Given the description of an element on the screen output the (x, y) to click on. 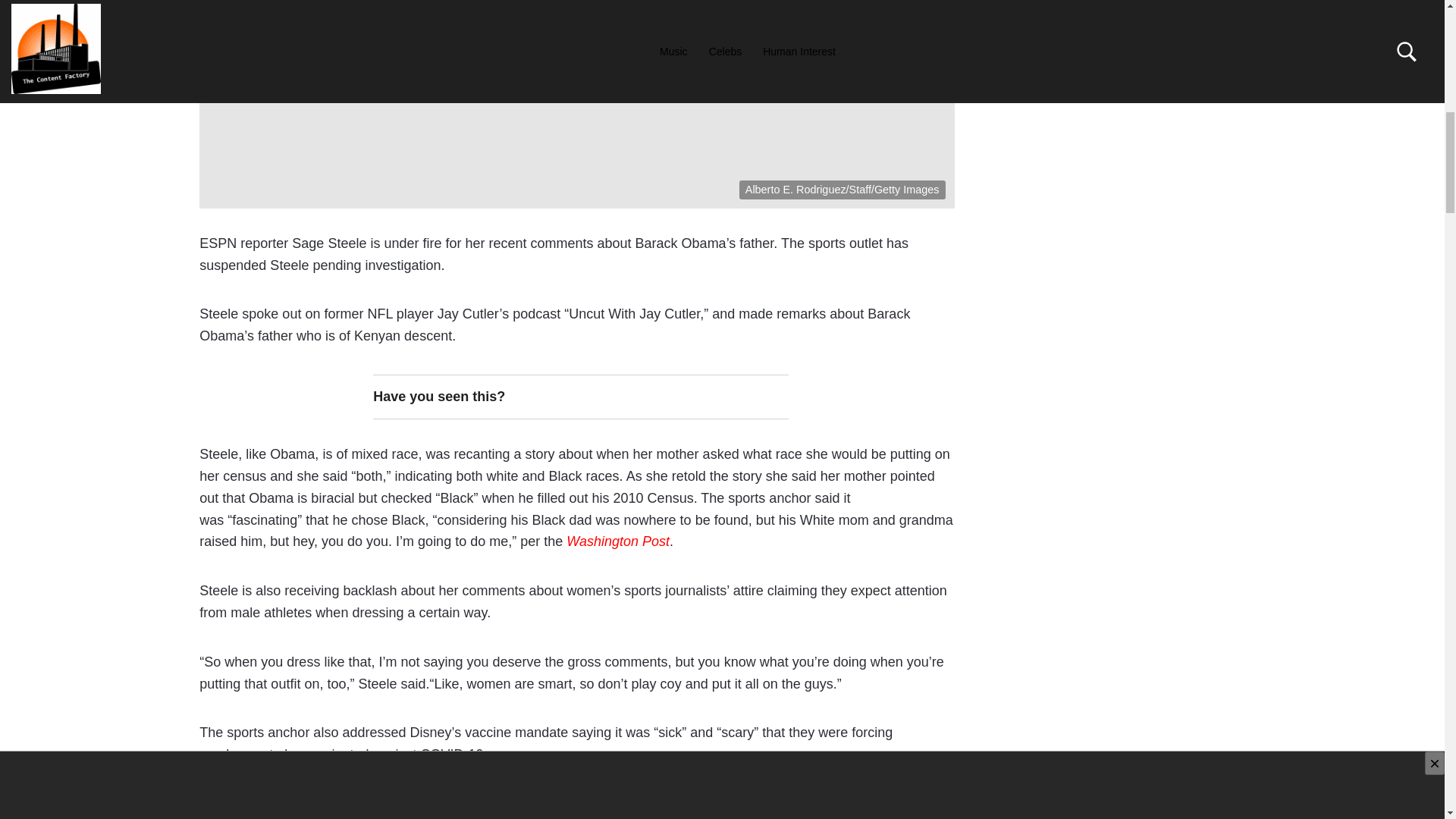
Washington Post (617, 540)
